Given the description of an element on the screen output the (x, y) to click on. 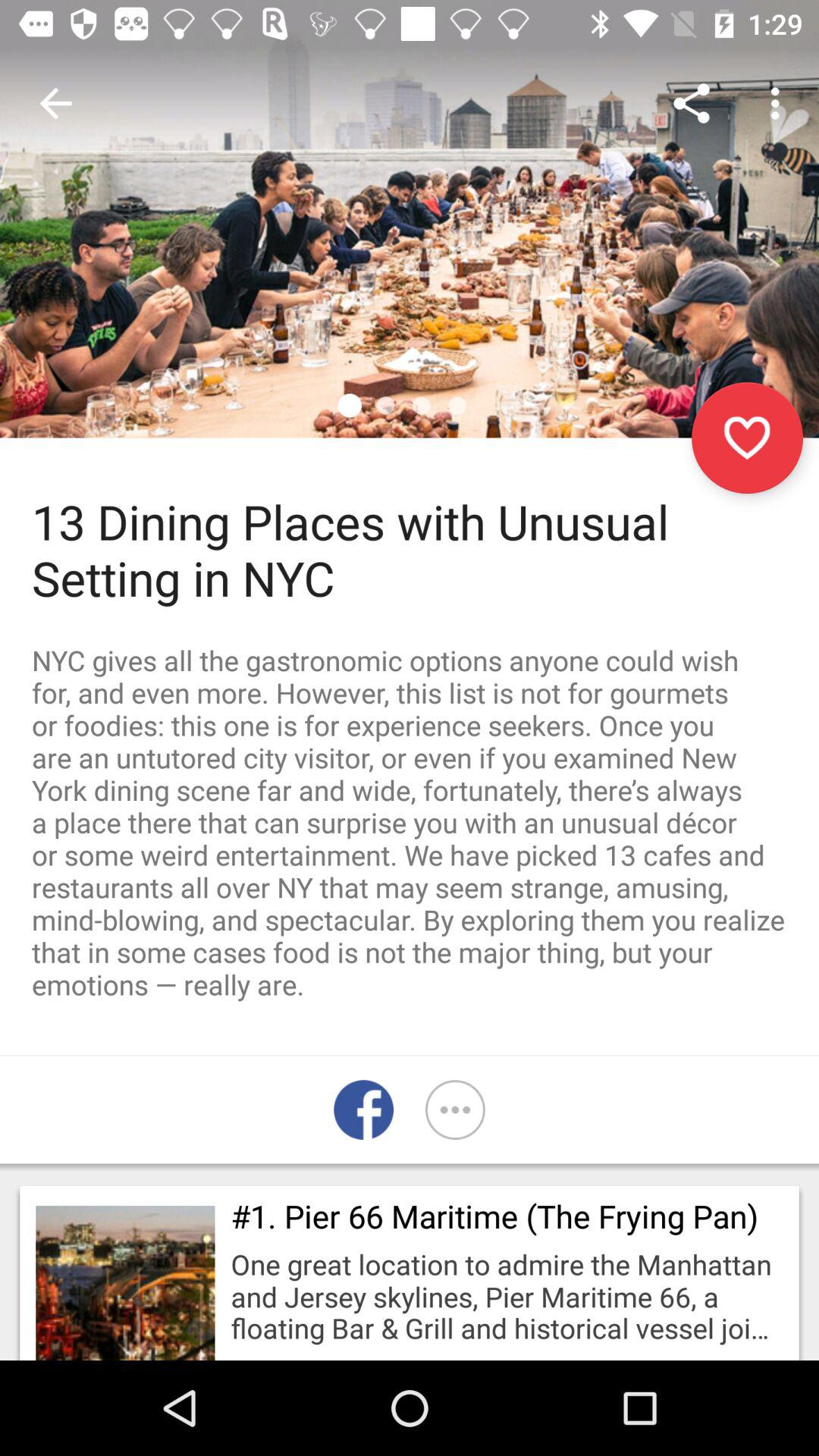
more platforms to share the article (455, 1109)
